Given the description of an element on the screen output the (x, y) to click on. 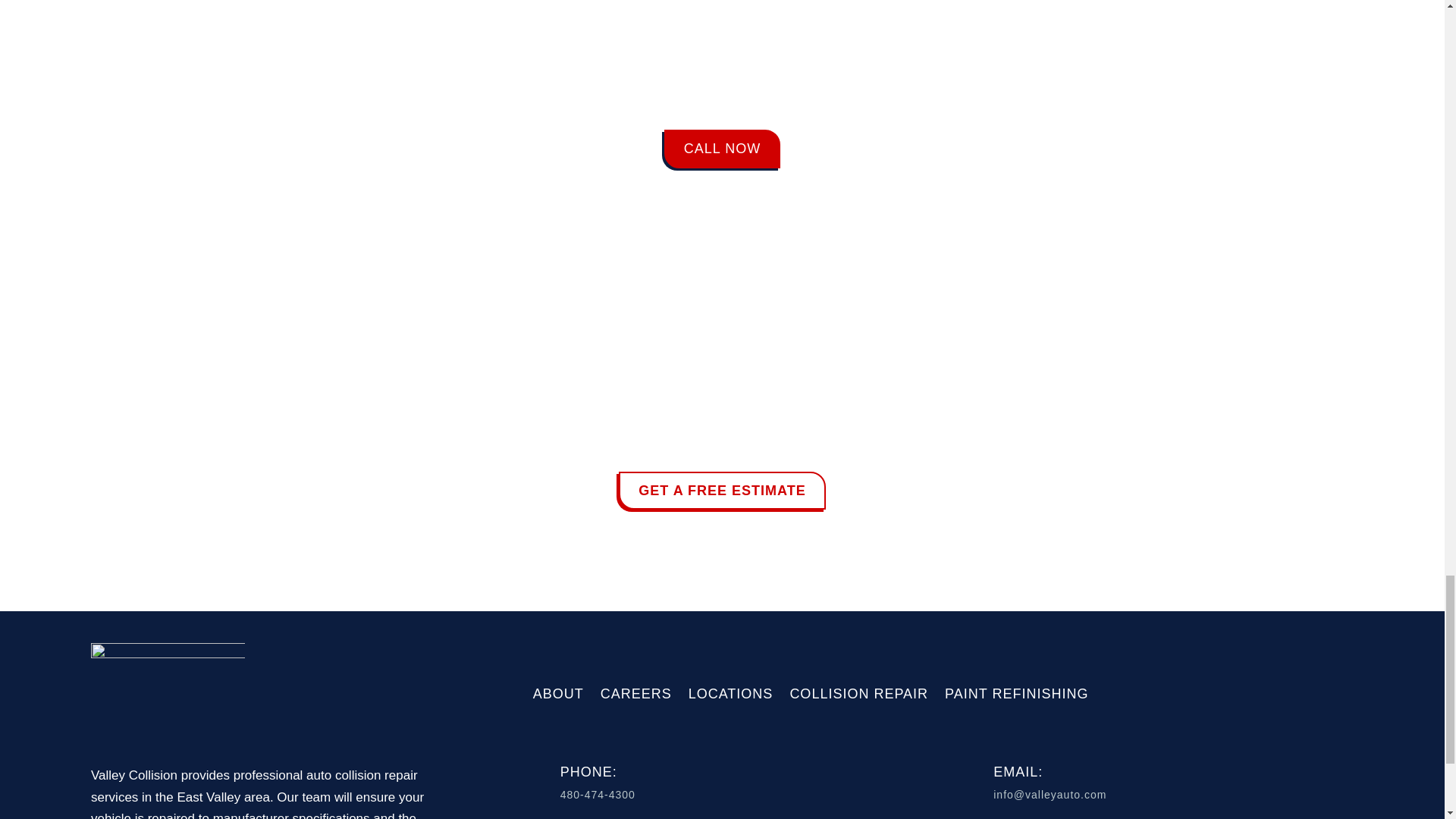
CALL NOW (721, 148)
GET A FREE ESTIMATE (721, 490)
COLLISION REPAIR (858, 693)
480-474-4300 (597, 794)
PAINT REFINISHING (1015, 693)
